Given the description of an element on the screen output the (x, y) to click on. 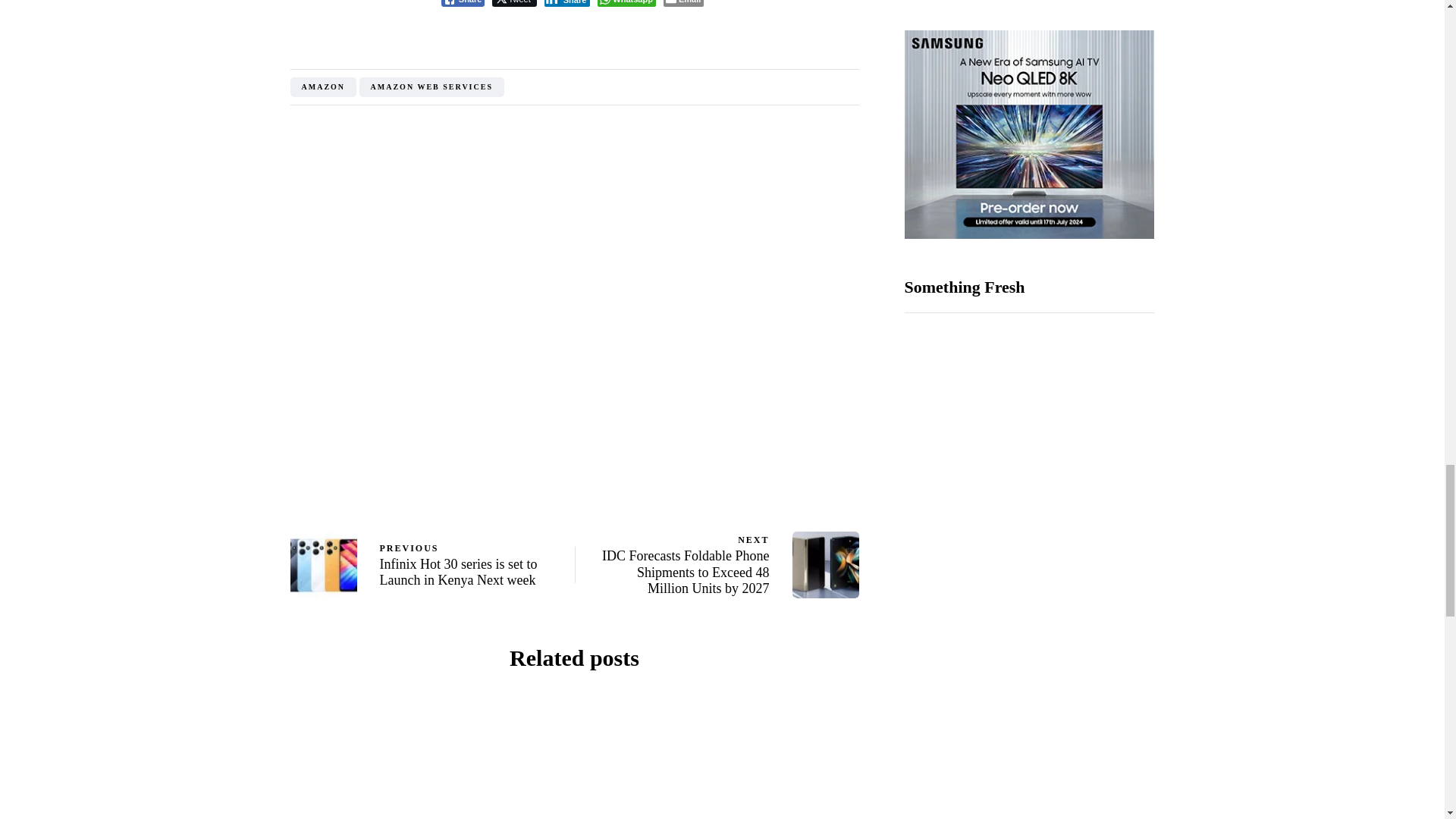
Email (683, 3)
Tweet (513, 3)
Whatsapp (626, 3)
Share (462, 3)
Share (567, 3)
AMAZON WEB SERVICES (431, 86)
AMAZON (322, 86)
